Given the description of an element on the screen output the (x, y) to click on. 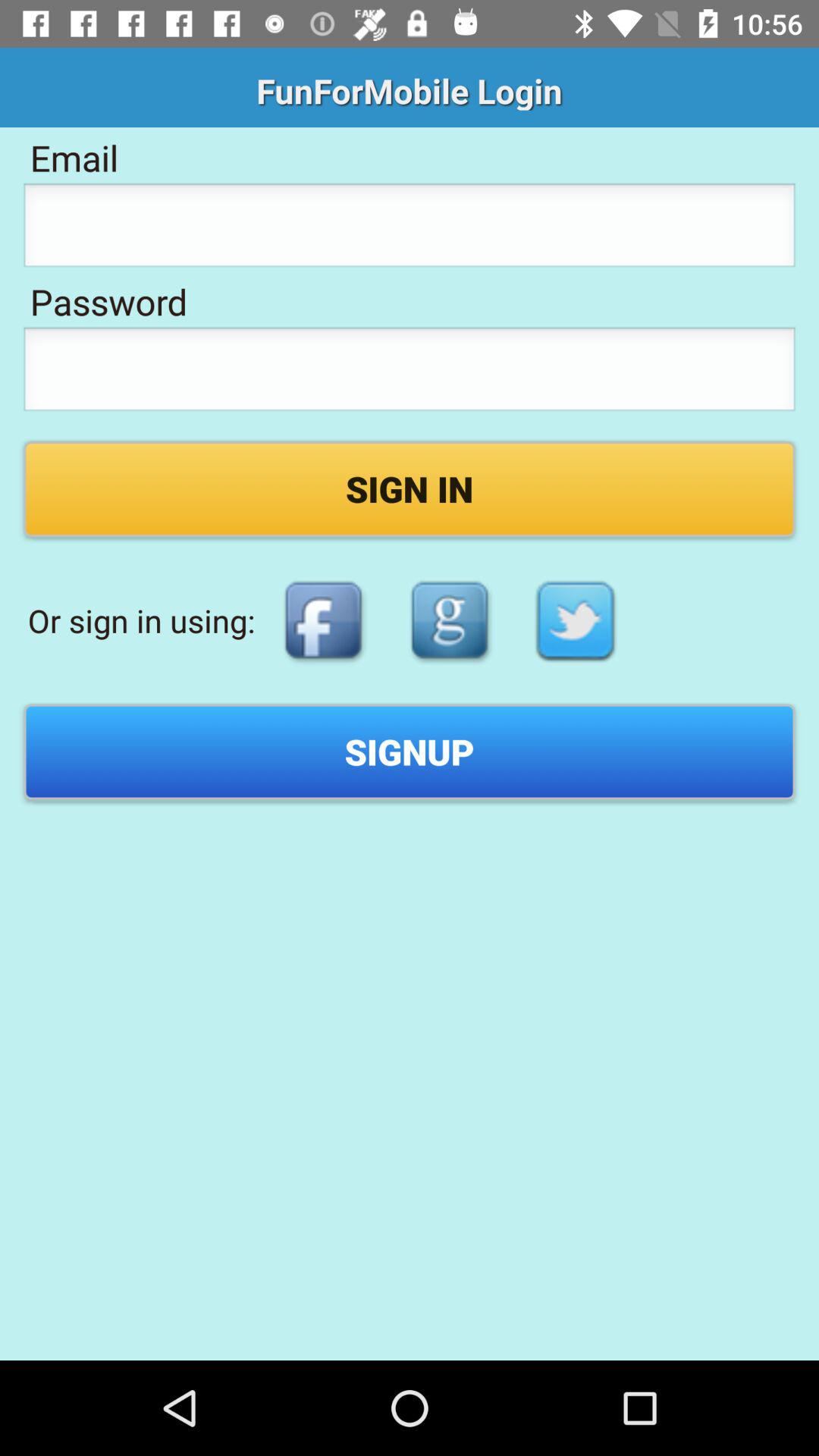
turn off icon on the right (576, 620)
